Given the description of an element on the screen output the (x, y) to click on. 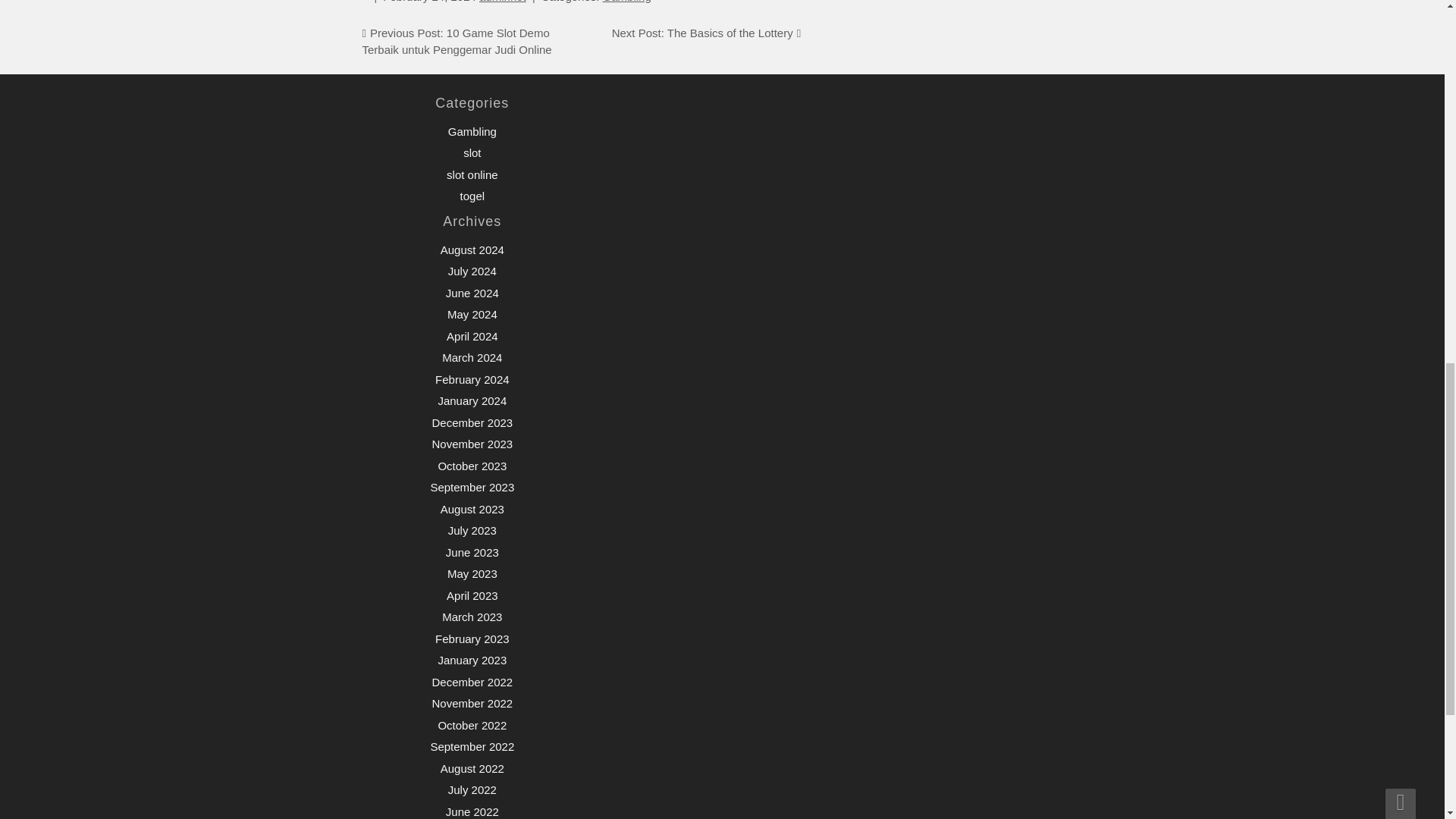
July 2023 (472, 530)
slot (471, 152)
August 2024 (472, 249)
November 2022 (471, 703)
Next Post: The Basics of the Lottery (702, 32)
February 2023 (472, 638)
February 2024 (472, 379)
January 2023 (472, 659)
April 2023 (471, 594)
September 2023 (471, 486)
